Given the description of an element on the screen output the (x, y) to click on. 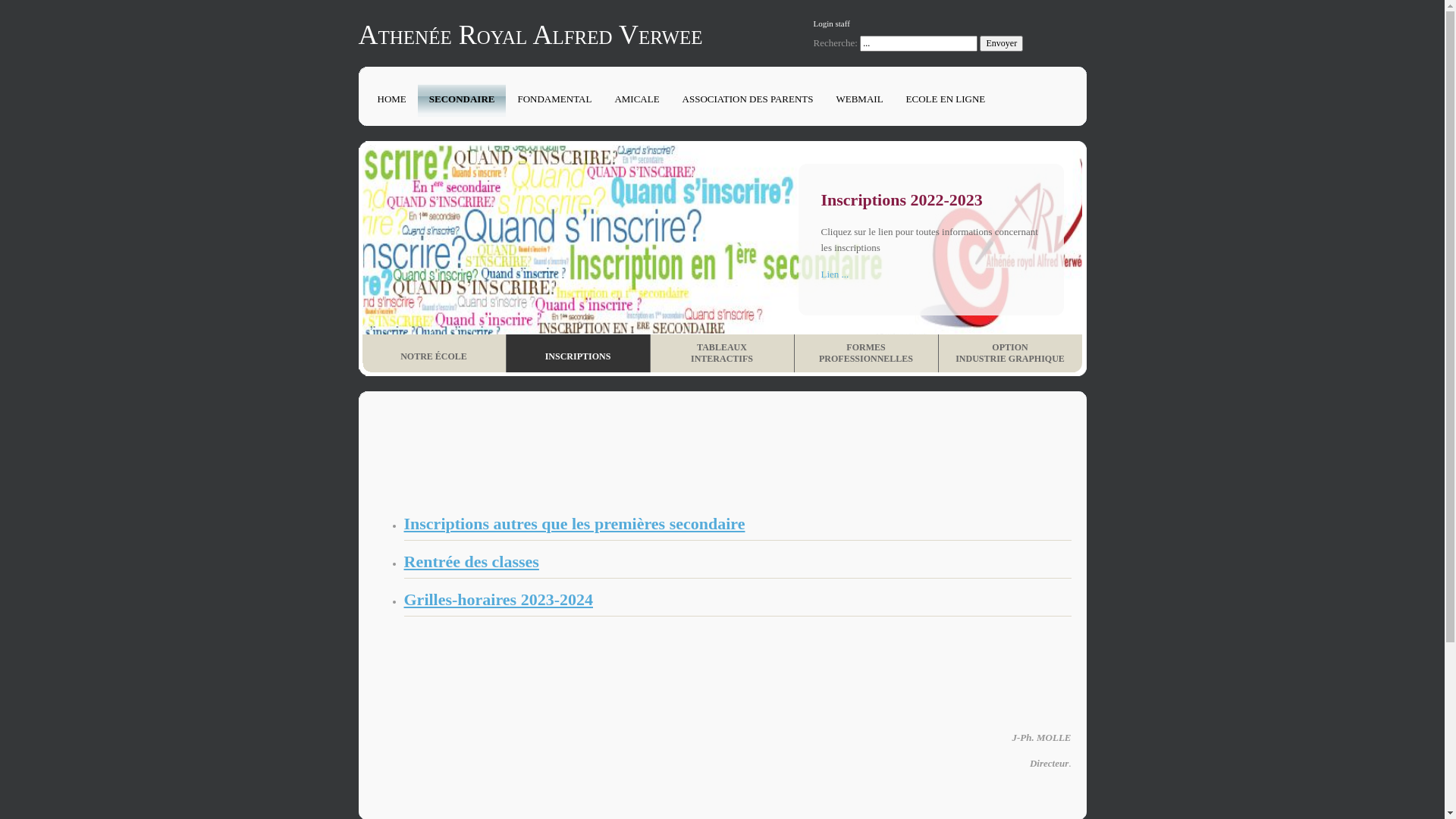
TABLEAUX
INTERACTIFS Element type: text (722, 353)
WEBMAIL Element type: text (859, 100)
Login staff Element type: text (830, 23)
  Element type: text (374, 495)
SECONDAIRE Element type: text (461, 100)
ECOLE EN LIGNE Element type: text (945, 100)
FORMES
PROFESSIONNELLES Element type: text (866, 353)
Envoyer Element type: text (1000, 43)
Lien ... Element type: text (834, 273)
INSCRIPTIONS Element type: text (578, 353)
AMICALE Element type: text (636, 100)
HOME Element type: text (391, 100)
Grilles-horaires 2023-2024 Element type: text (498, 598)
ASSOCIATION DES PARENTS Element type: text (748, 100)
OPTION
INDUSTRIE GRAPHIQUE Element type: text (1010, 353)
FONDAMENTAL Element type: text (553, 100)
